Given the description of an element on the screen output the (x, y) to click on. 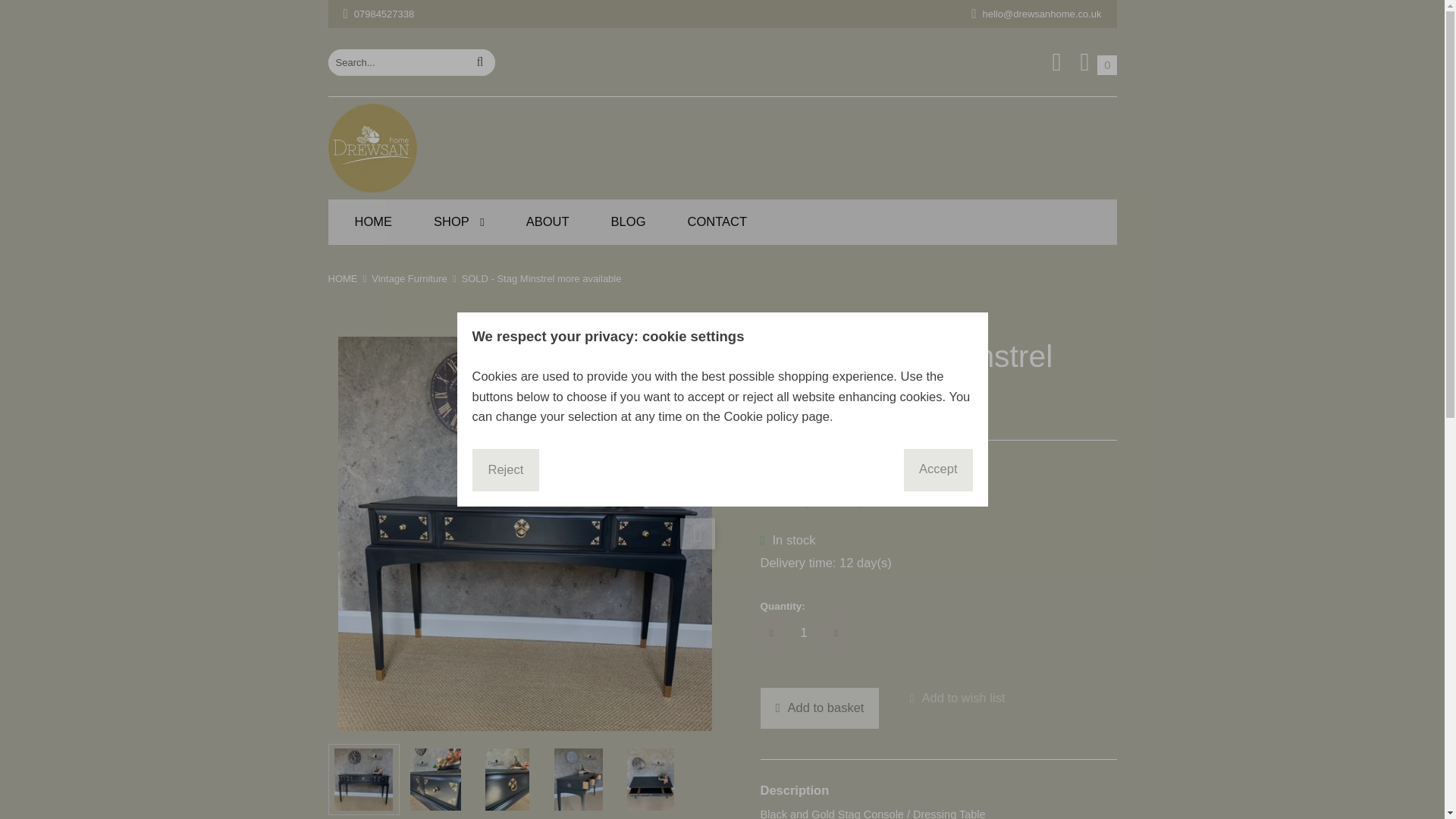
BLOG (628, 221)
Search (479, 61)
HOME (1098, 62)
Add to basket (374, 221)
DREWSAN HOME LTD (819, 707)
plus delivery (371, 148)
Vintage Furniture (835, 500)
SHOP (408, 278)
CONTACT (458, 221)
HOME (716, 221)
1 (341, 278)
ABOUT (803, 632)
SOLD - Stag Minstrel more available (547, 221)
